Given the description of an element on the screen output the (x, y) to click on. 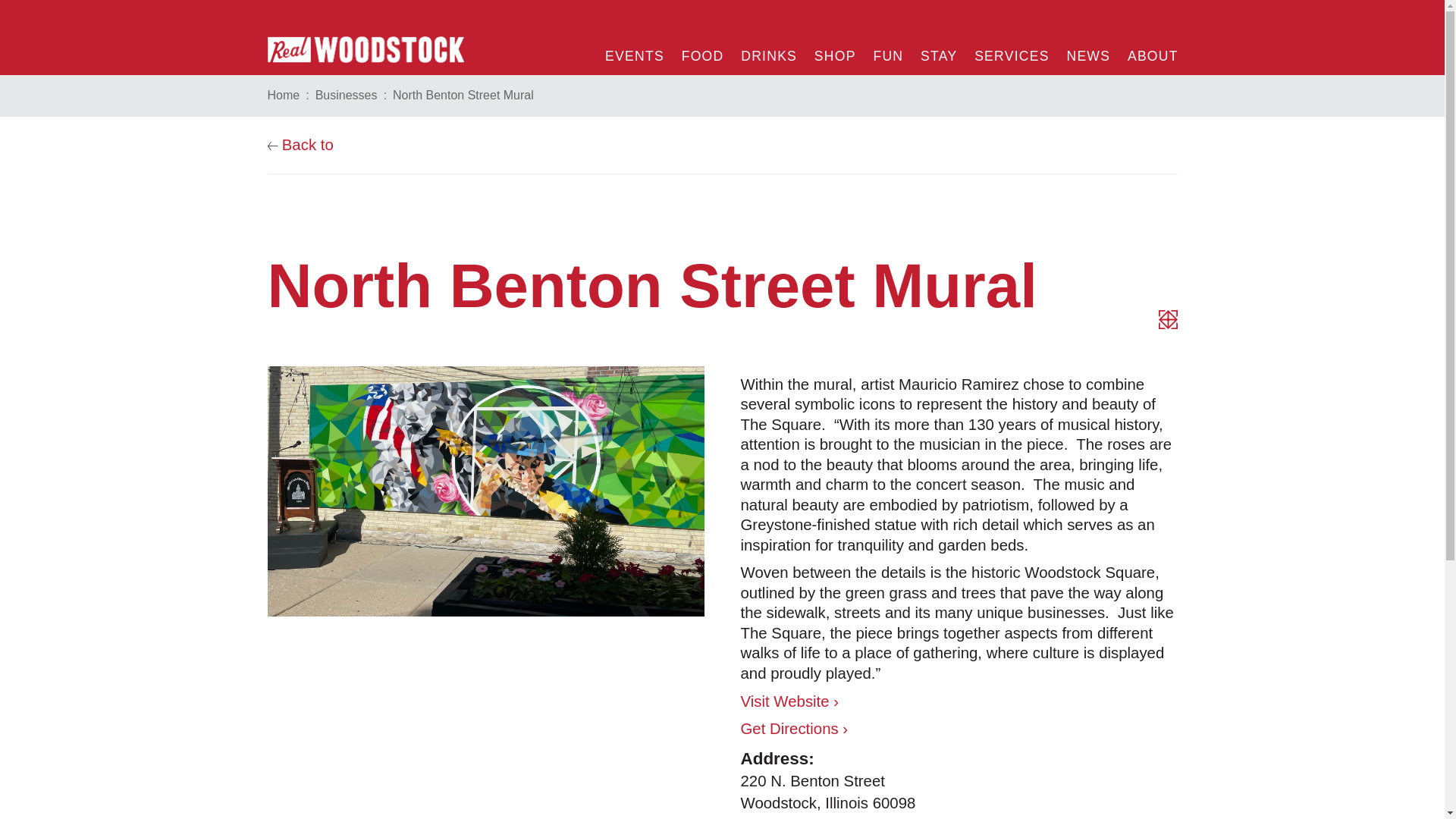
FOOD (827, 792)
North Benton Street Mural (702, 51)
FUN (463, 95)
SHOP (887, 51)
ABOUT (834, 51)
DRINKS (1147, 51)
Home (768, 51)
SERVICES (282, 95)
NEWS (1011, 51)
